Given the description of an element on the screen output the (x, y) to click on. 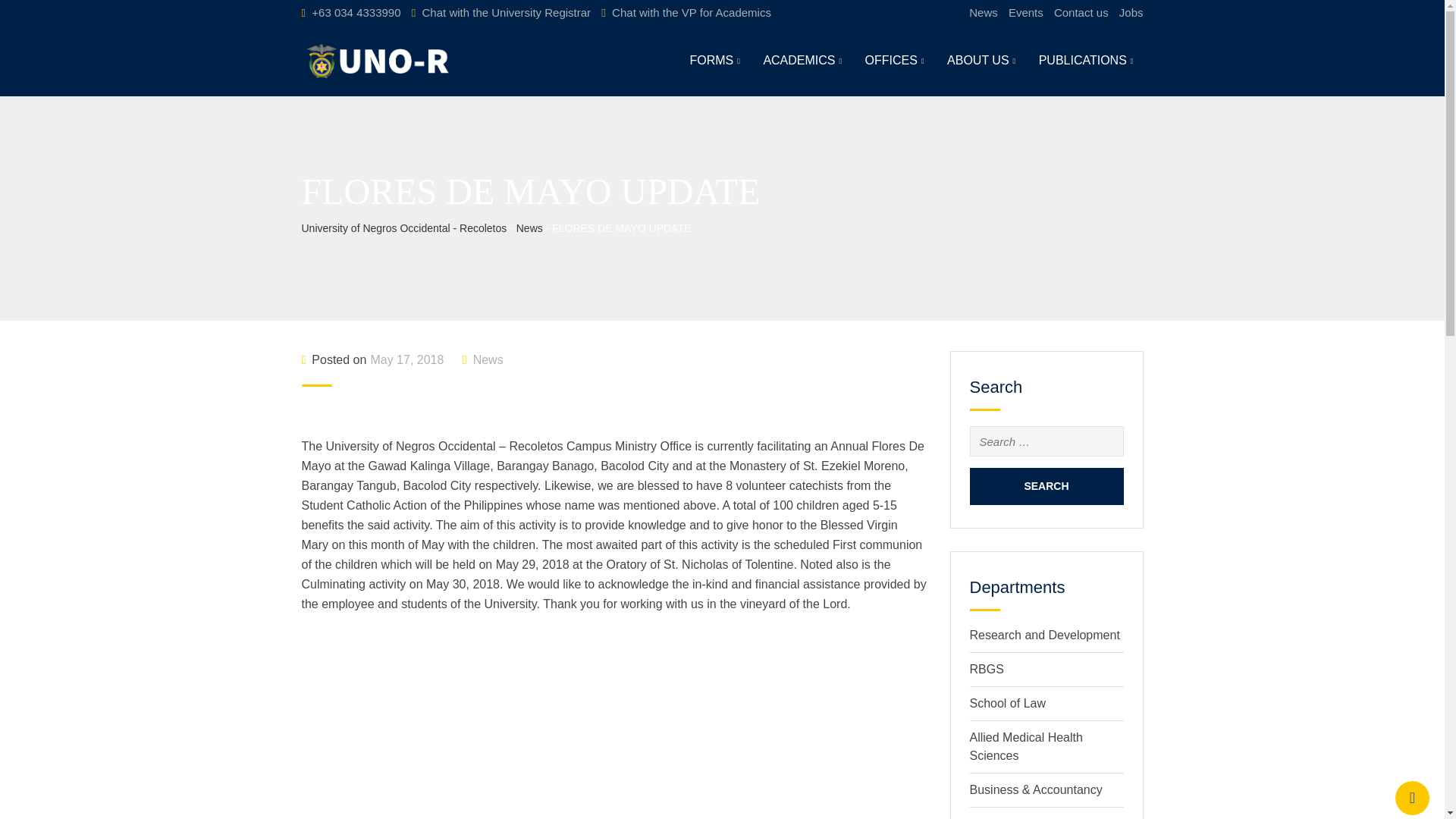
Chat with the University Registrar (506, 11)
Events (1026, 11)
Search (1045, 486)
Jobs (1130, 11)
Chat with the VP for Academics (691, 11)
Search (1045, 486)
Contact us (1081, 11)
News (983, 11)
Go to University of Negros Occidental - Recoletos. (403, 227)
ACADEMICS (801, 60)
OFFICES (895, 60)
FORMS (714, 60)
Go to News. (529, 227)
